Given the description of an element on the screen output the (x, y) to click on. 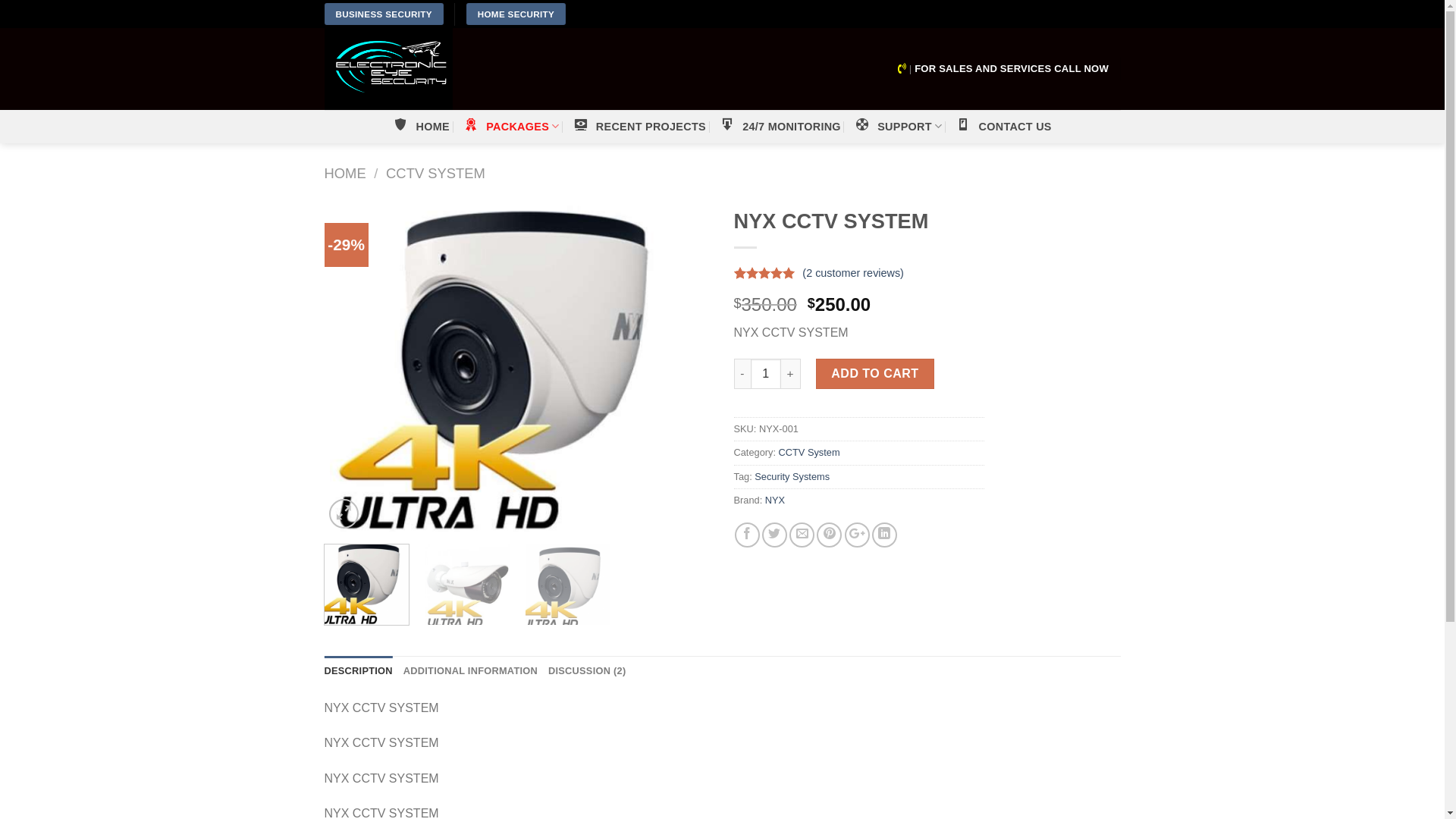
HOME Element type: text (420, 126)
Security Systems Element type: text (791, 476)
Skip to content Element type: text (0, 0)
RECENT PROJECTS Element type: text (639, 126)
DISCUSSION (2) Element type: text (586, 670)
BUSINESS SECURITY Element type: text (383, 14)
CONTACT US Element type: text (1003, 126)
ADDITIONAL INFORMATION Element type: text (470, 670)
(2 customer reviews) Element type: text (852, 273)
NYX Element type: text (774, 499)
HOME SECURITY Element type: text (515, 14)
HOME Element type: text (345, 173)
Electronic Eye - Home Security & Surveillance Element type: hover (499, 68)
CCTV SYSTEM Element type: text (435, 173)
DESCRIPTION Element type: text (358, 670)
ADD TO CART Element type: text (874, 373)
CCTV System Element type: text (809, 452)
FOR SALES AND SERVICES CALL NOW Element type: text (1011, 68)
PACKAGES Element type: text (511, 126)
Qty Element type: hover (765, 373)
24/7 MONITORING Element type: text (779, 126)
SUPPORT Element type: text (897, 126)
SNAG-0017 Element type: hover (517, 366)
